Given the description of an element on the screen output the (x, y) to click on. 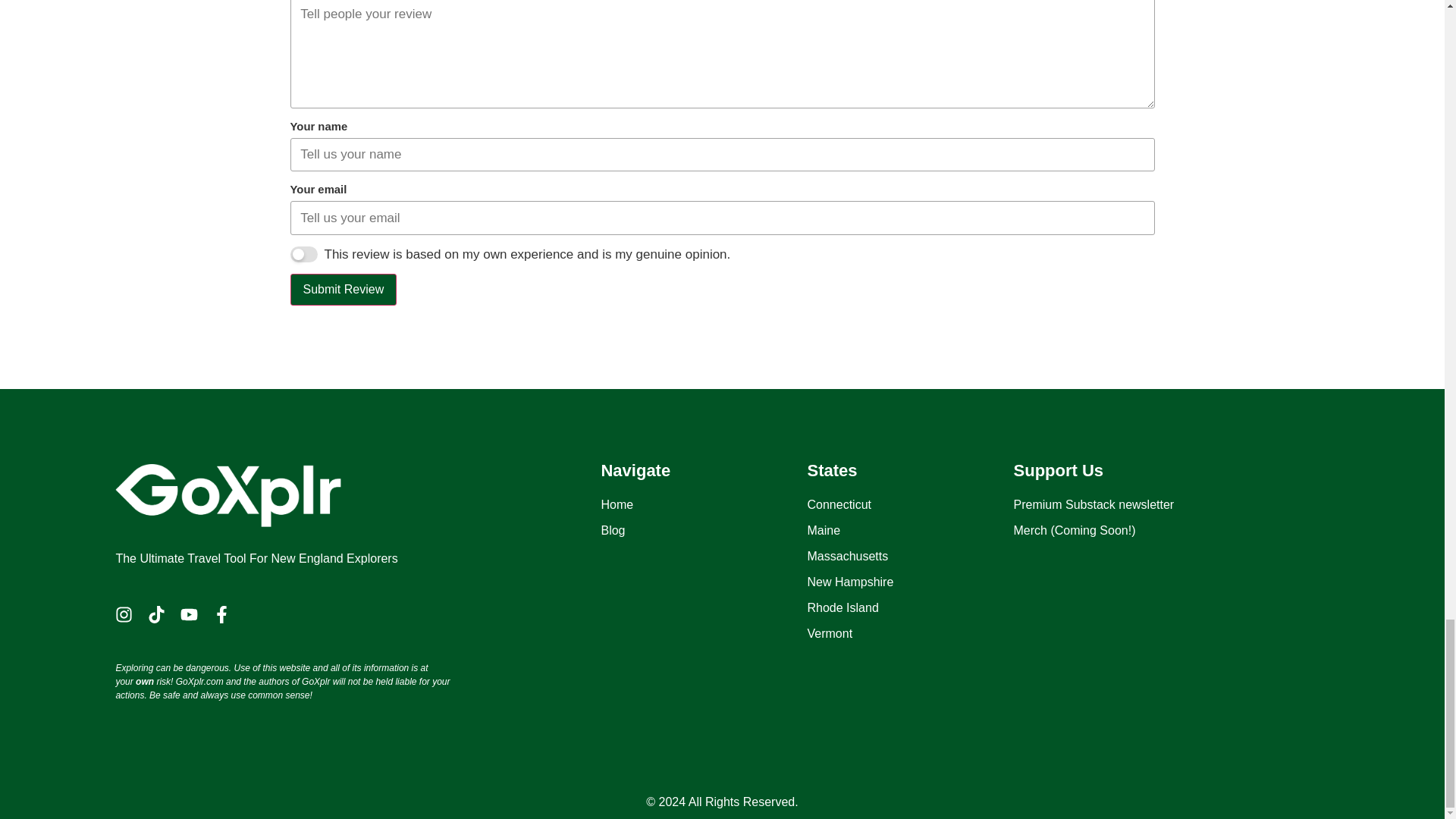
Blog (702, 530)
Home (702, 505)
Massachusetts (909, 556)
Connecticut (909, 505)
Vermont (909, 633)
New Hampshire (909, 582)
Maine (909, 530)
1 (303, 254)
Submit Review (342, 289)
Rhode Island (909, 607)
Premium Substack newsletter (1116, 505)
